Given the description of an element on the screen output the (x, y) to click on. 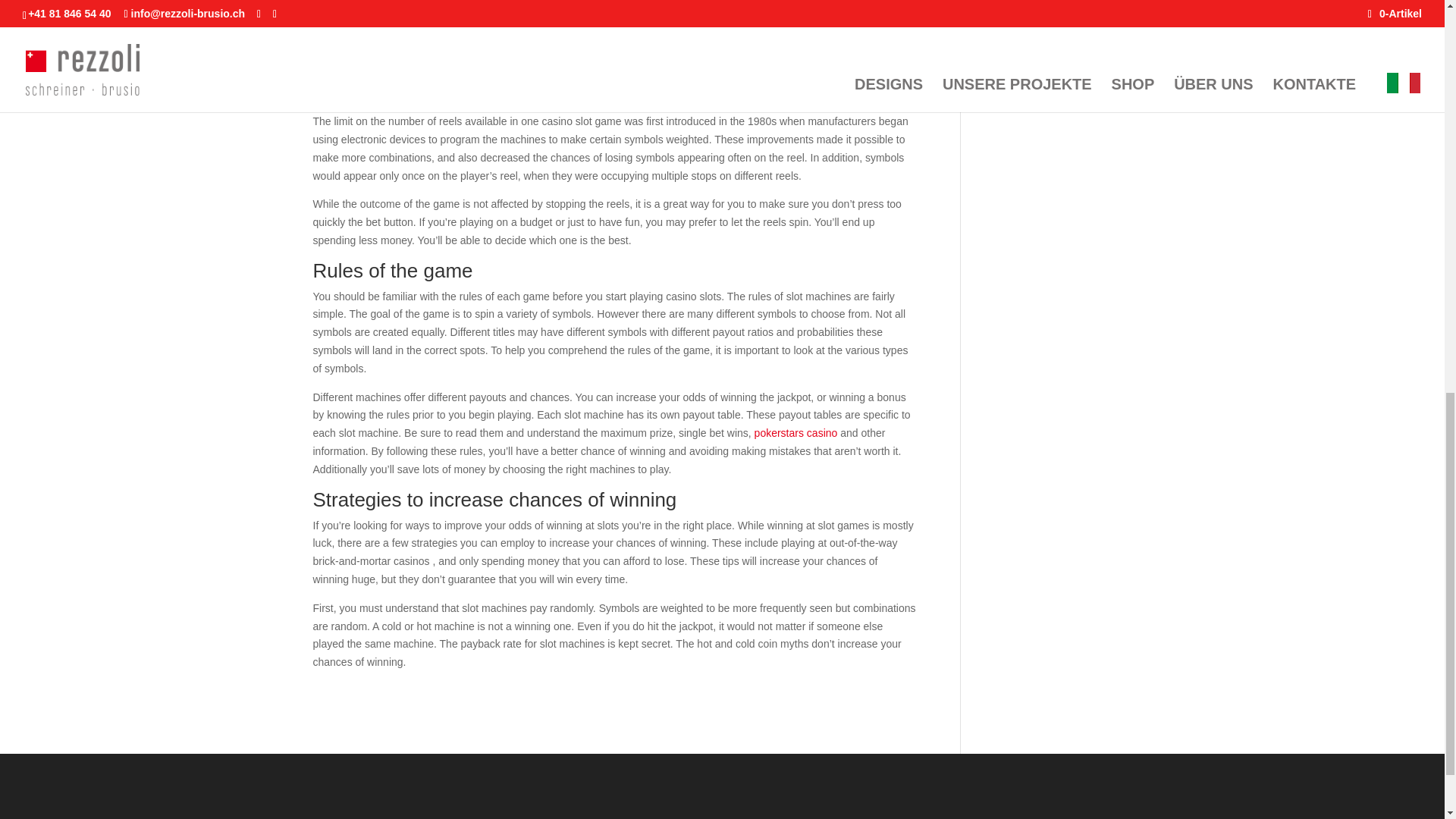
pokerstars casino (796, 432)
